Given the description of an element on the screen output the (x, y) to click on. 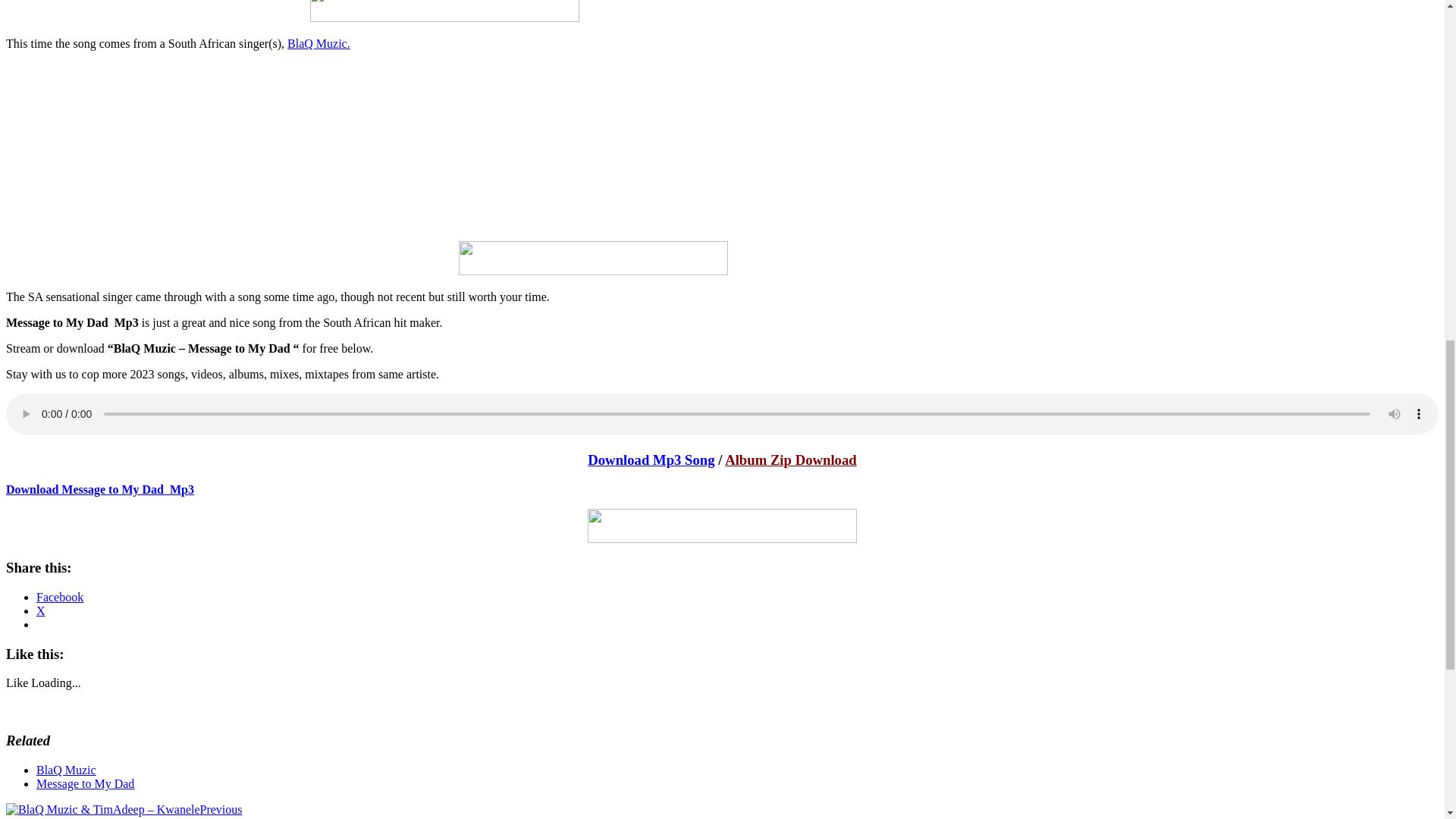
Click to share on Facebook (59, 596)
Download Mp3 Song (651, 459)
Download Message to My Dad  Mp3 (99, 488)
Album Zip Download (791, 459)
BlaQ Muzic. (318, 42)
BlaQ Muzic (66, 769)
Facebook (59, 596)
Message to My Dad (84, 783)
